Given the description of an element on the screen output the (x, y) to click on. 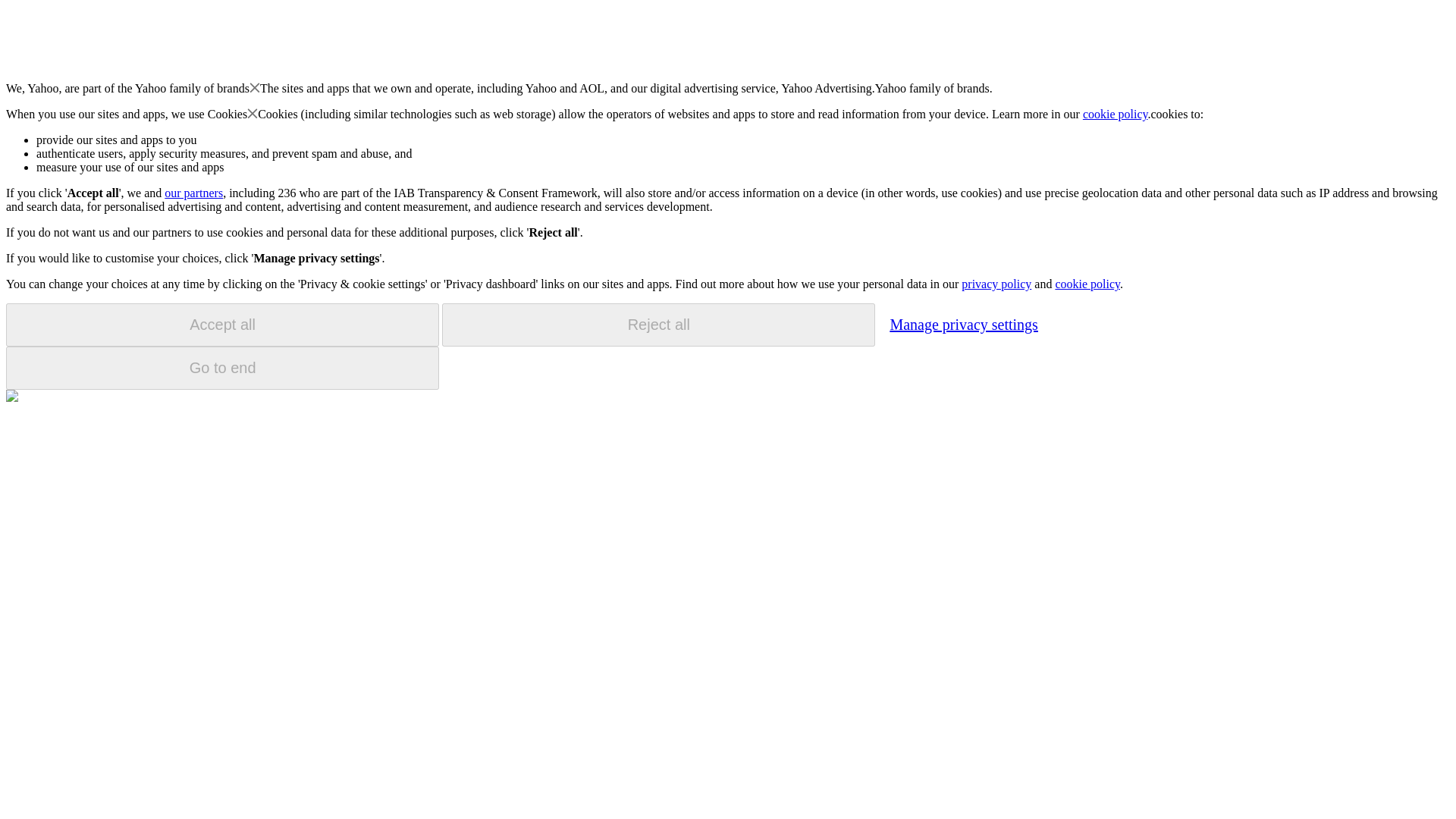
privacy policy (995, 283)
Manage privacy settings (963, 323)
cookie policy (1115, 113)
Reject all (658, 324)
cookie policy (1086, 283)
our partners (193, 192)
Accept all (222, 324)
Go to end (222, 367)
